Given the description of an element on the screen output the (x, y) to click on. 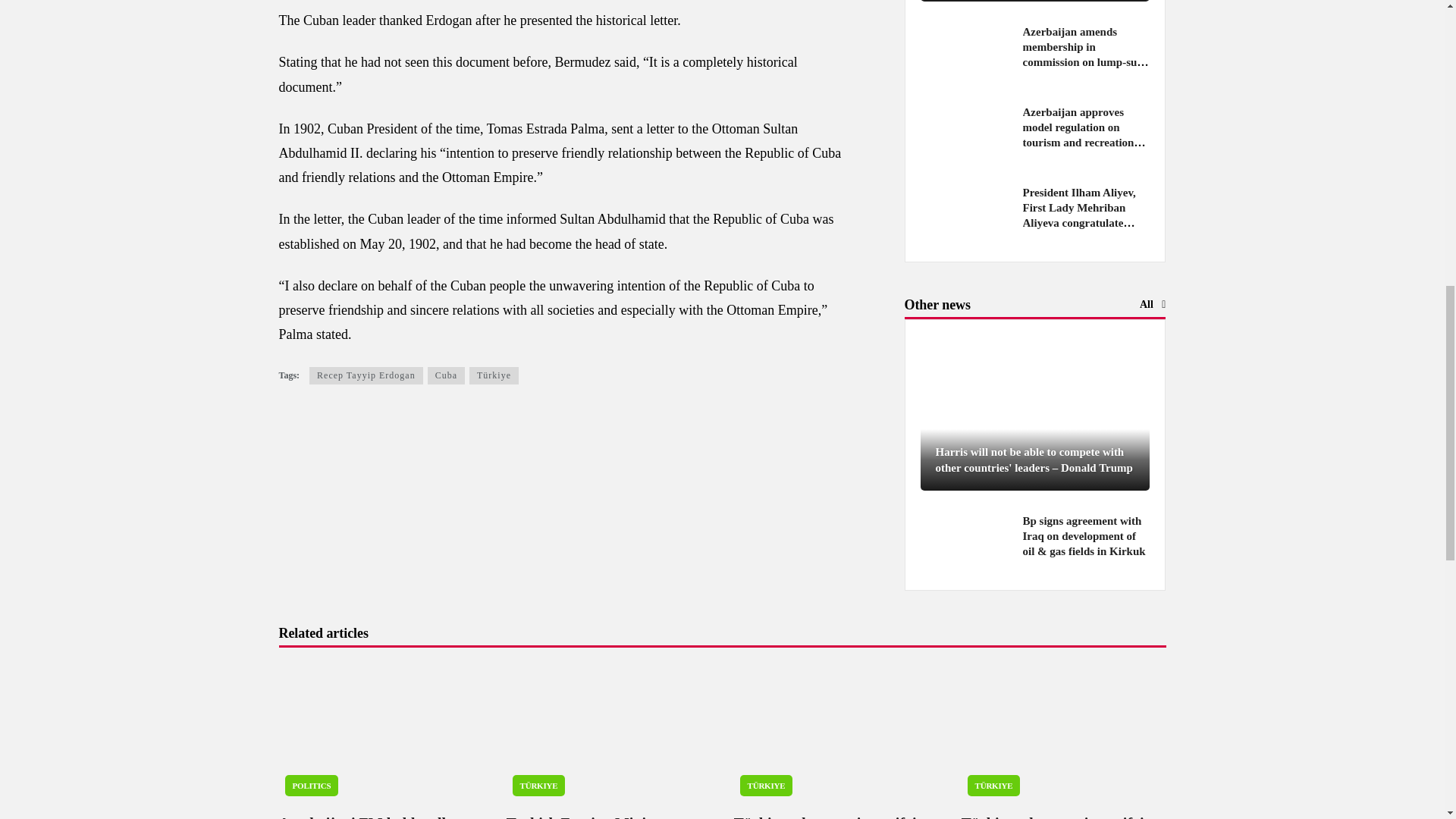
Azerbaijani FM holds talks with Turkish MFA representatives (381, 733)
Turkish Foreign Minister Holds Meetings in Iran (608, 733)
Azerbaijani FM holds talks with Turkish MFA representatives (368, 816)
Turkish Foreign Minister Holds Meetings in Iran (588, 816)
